Given the description of an element on the screen output the (x, y) to click on. 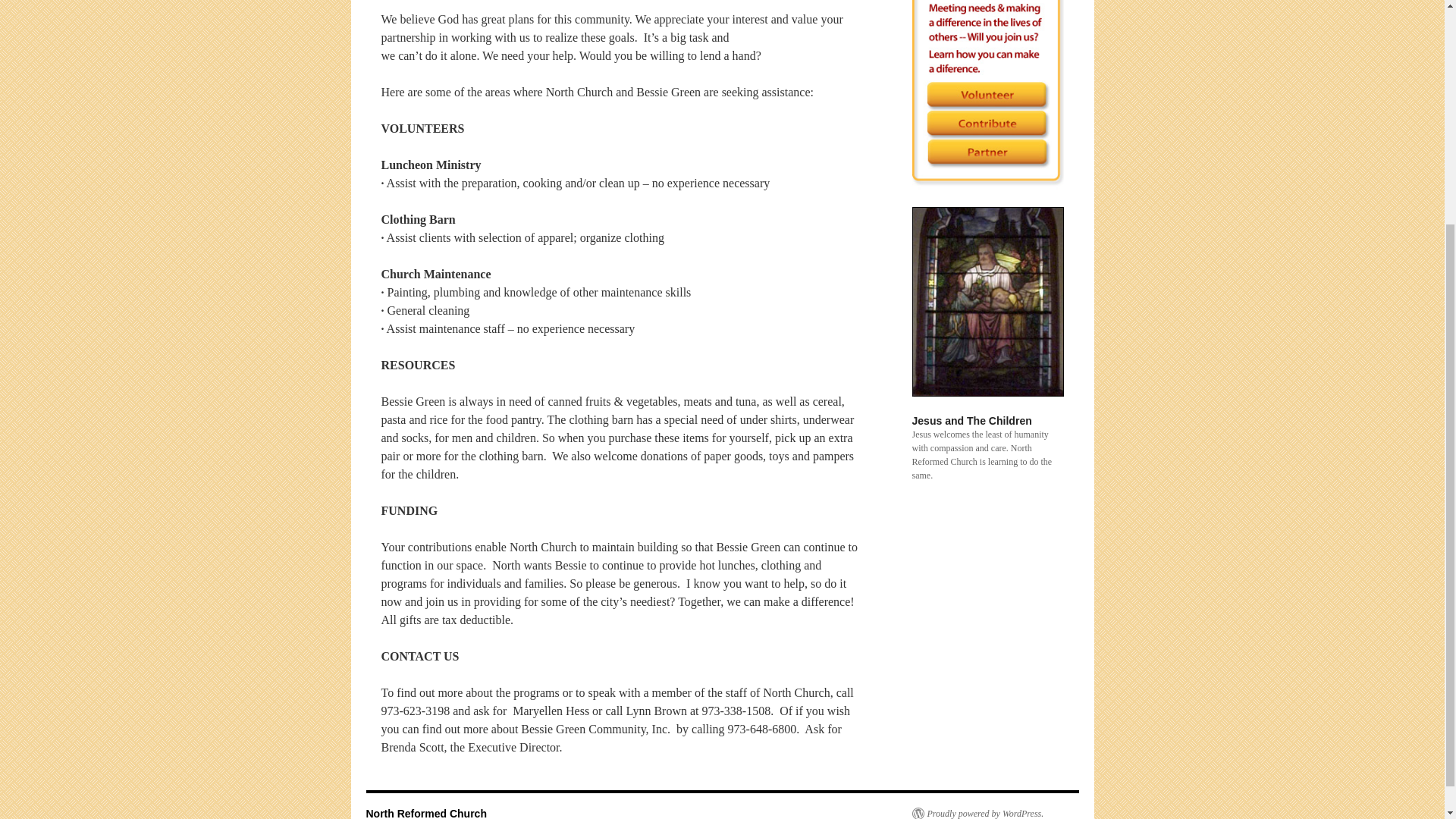
Skip to content (372, 3)
